Given the description of an element on the screen output the (x, y) to click on. 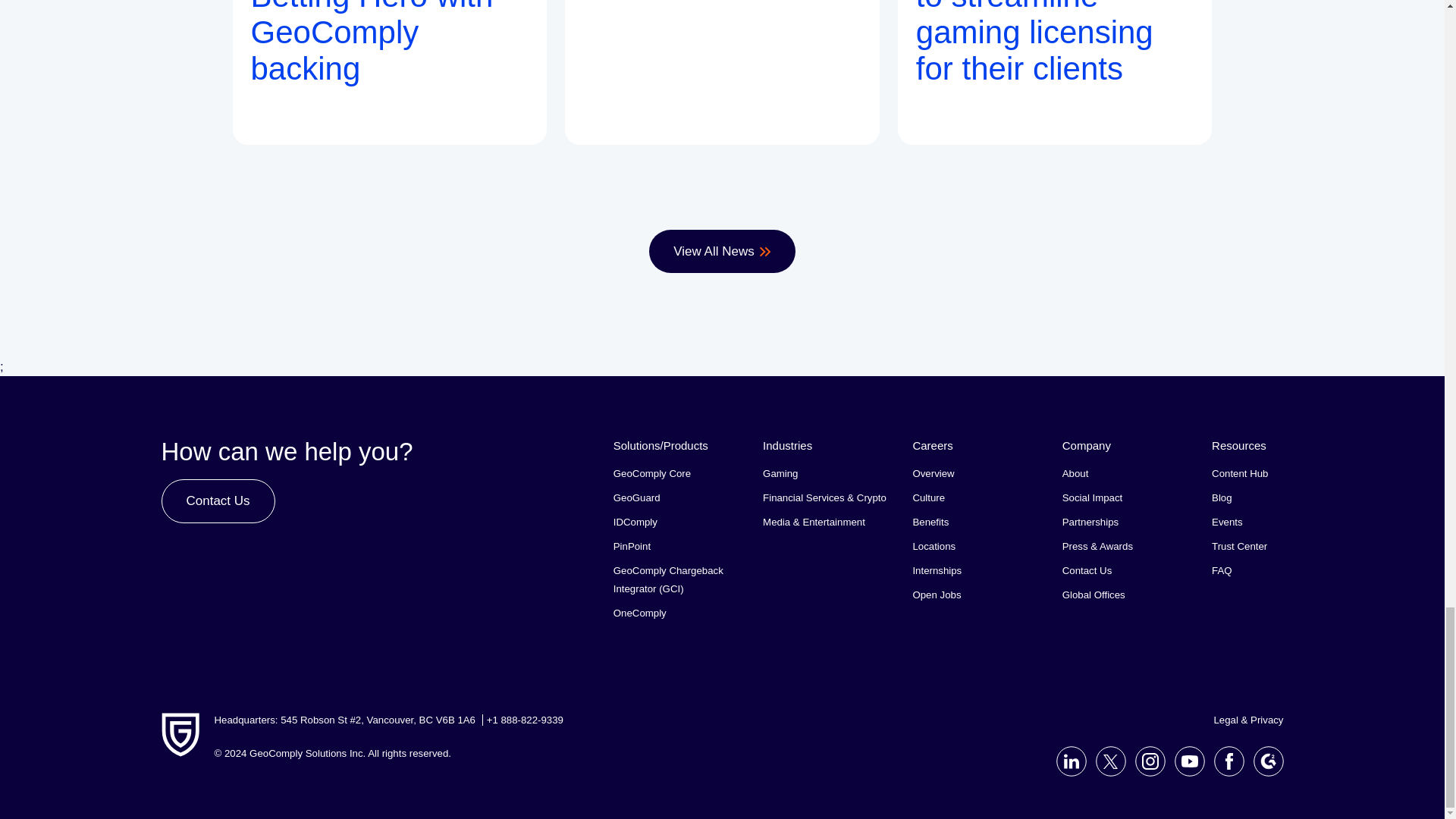
Check out our profile on G2 (1262, 761)
Follow us on Instagram (1144, 761)
Connect on LinkedIn (1066, 761)
Follow us on Facebook (1223, 761)
Watch us on YouTube (1184, 761)
Follow us on Twitter (1105, 761)
